Given the description of an element on the screen output the (x, y) to click on. 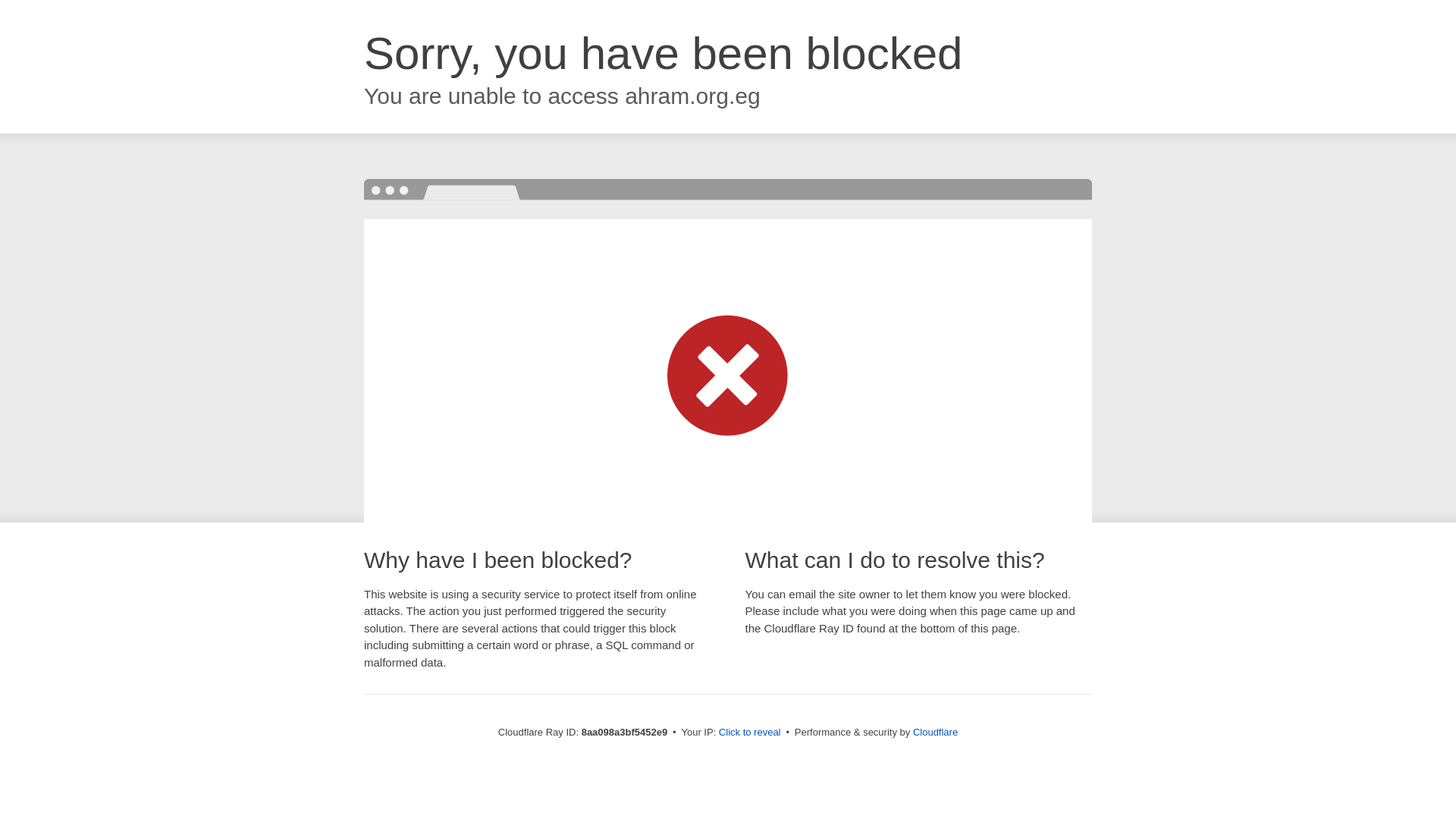
Cloudflare (935, 731)
Click to reveal (749, 732)
